Given the description of an element on the screen output the (x, y) to click on. 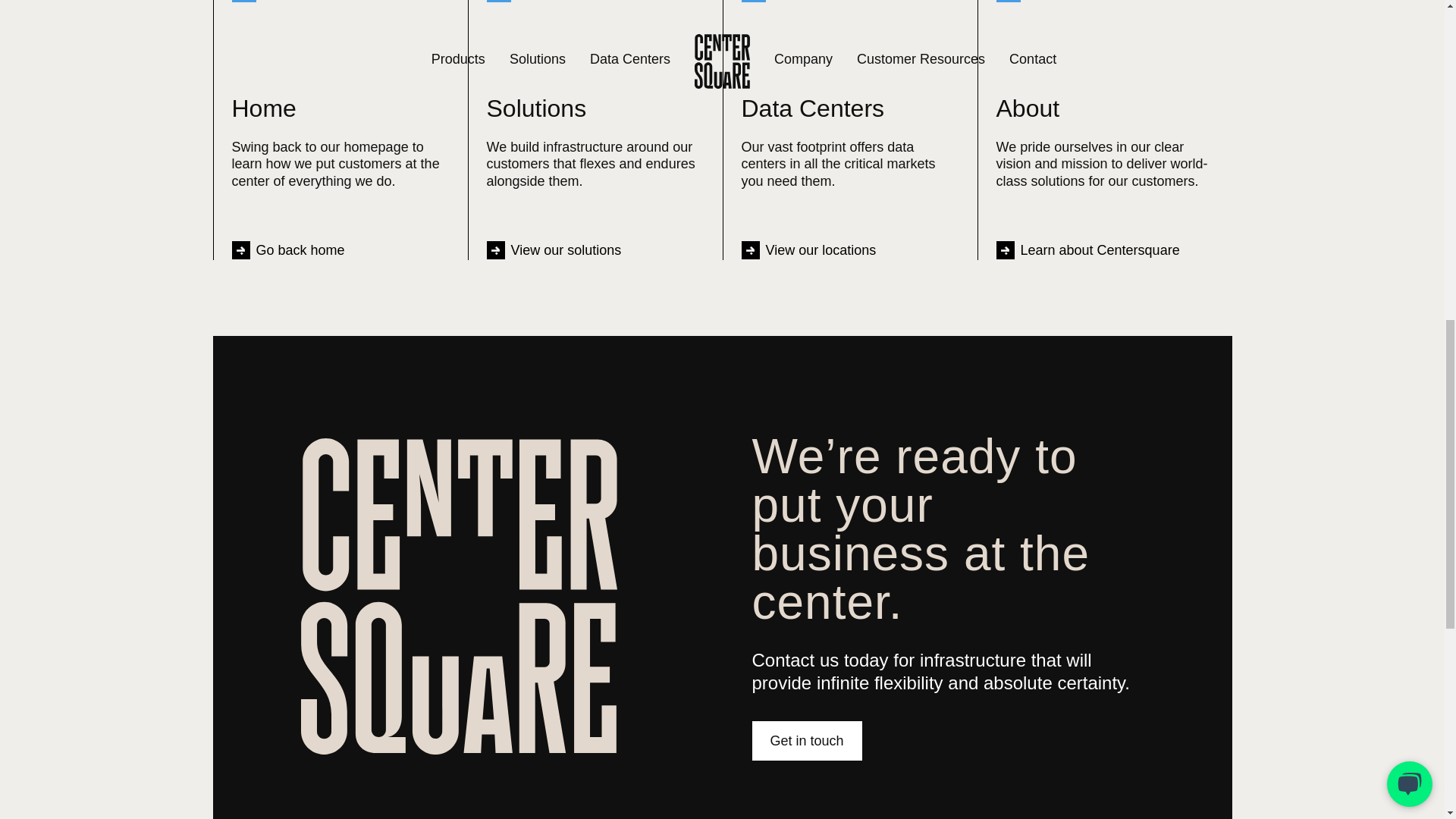
View our solutions (553, 249)
View our locations (808, 249)
Go back home (288, 249)
Learn about Centersquare (1087, 249)
Get in touch (806, 740)
